Given the description of an element on the screen output the (x, y) to click on. 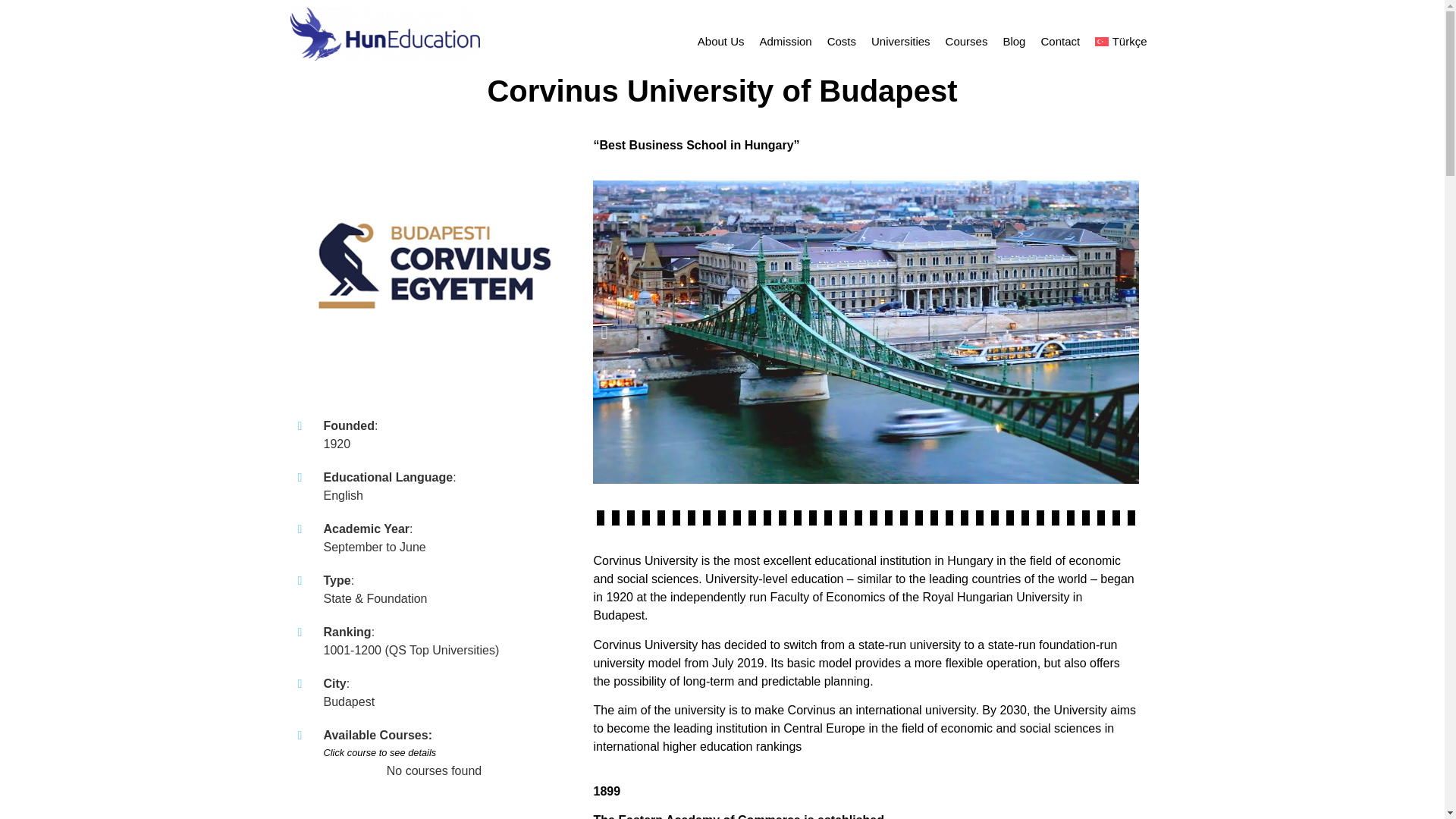
Universities (900, 41)
Costs (841, 41)
About Us (721, 41)
logo-huneducation (384, 33)
Admission (784, 41)
Contact (1059, 41)
Courses (966, 41)
Blog (1013, 41)
